Given the description of an element on the screen output the (x, y) to click on. 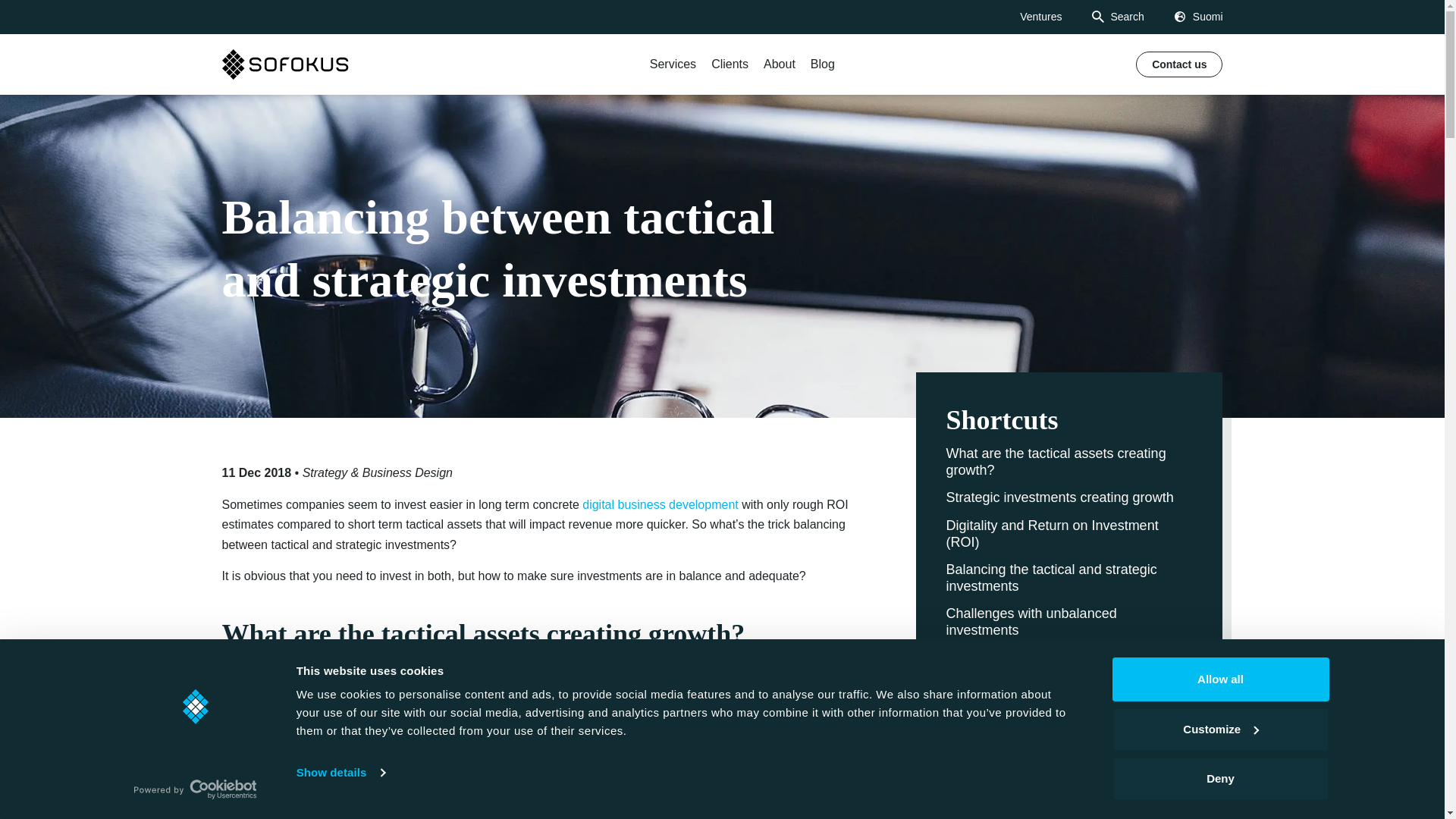
Show details (340, 772)
